Given the description of an element on the screen output the (x, y) to click on. 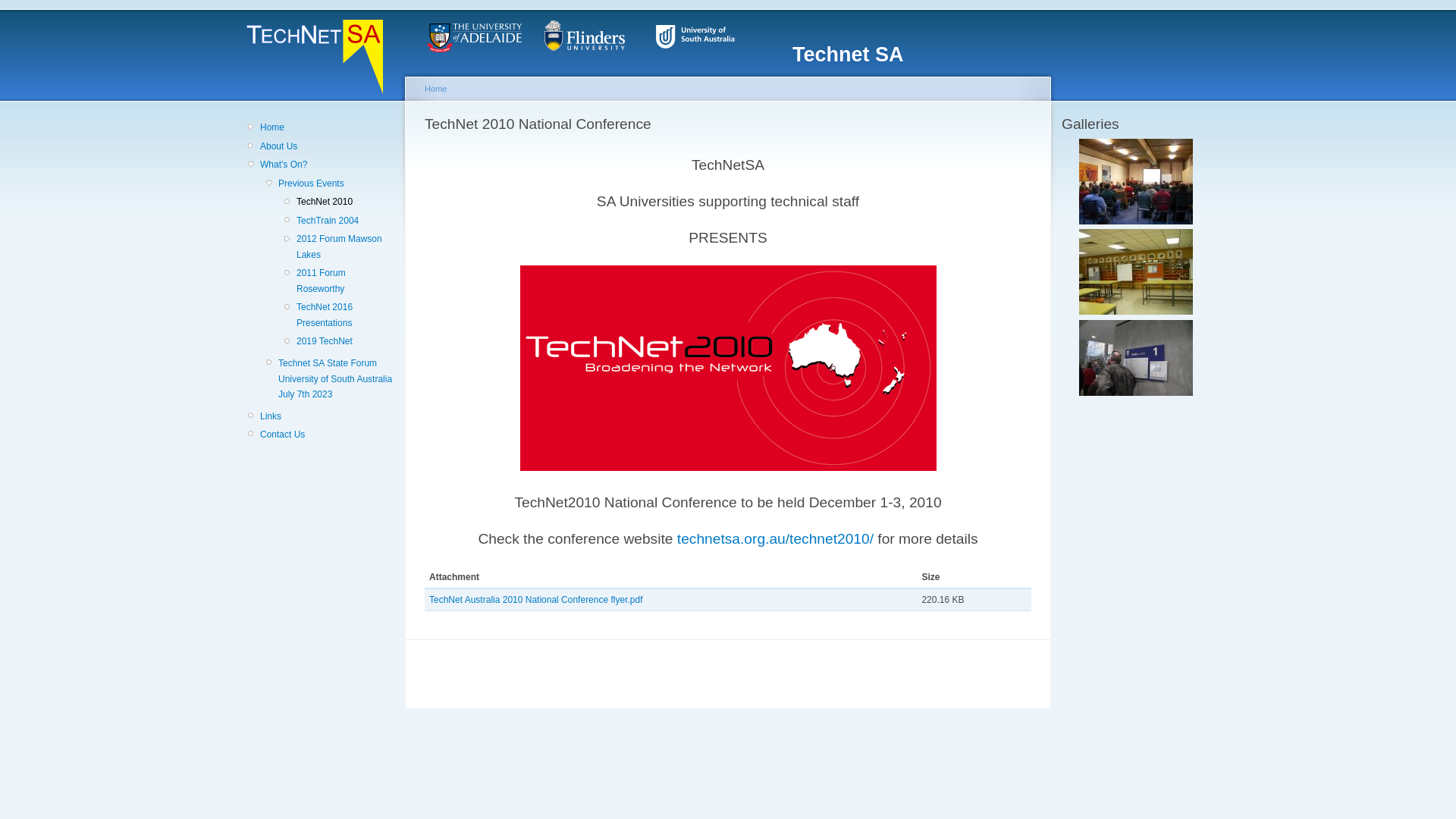
TechNet 2016 Presentations Element type: text (345, 314)
About Us Element type: text (327, 145)
Home Element type: text (327, 126)
TechNet 2010 Element type: text (345, 201)
Contact Us Element type: text (327, 434)
TechTrain 2004 Element type: text (345, 220)
Previous Events Element type: text (336, 183)
Technet SA Element type: text (847, 54)
Links Element type: text (327, 415)
2019 TechNet Element type: text (345, 340)
TechNet Australia 2010 National Conference flyer.pdf Element type: text (536, 599)
technetsa.org.au/technet2010/ Element type: text (777, 538)
What's On? Element type: text (327, 164)
2011 Forum Roseworthy Element type: text (345, 280)
Home Element type: text (435, 88)
2012 Forum Mawson Lakes Element type: text (345, 246)
